Given the description of an element on the screen output the (x, y) to click on. 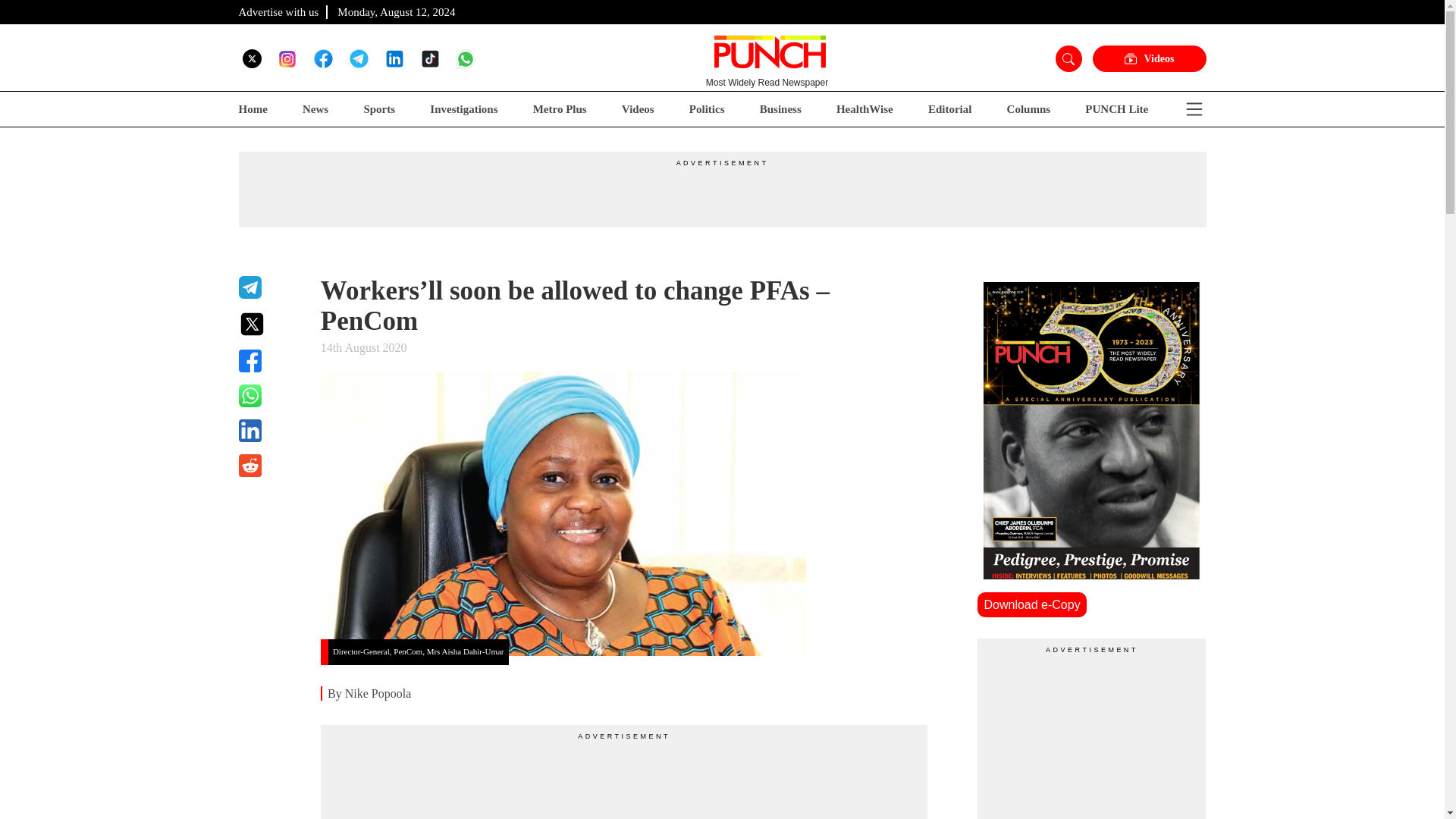
News (315, 109)
Share on Facbook (269, 360)
Share on Reddit (269, 465)
Follow Us on X (252, 58)
Share on Linkedin (269, 430)
Business (781, 109)
Monday, August 12, 2024 (395, 11)
Follow Our Channel on Telegram (358, 58)
Videos (637, 109)
Home (252, 109)
